Given the description of an element on the screen output the (x, y) to click on. 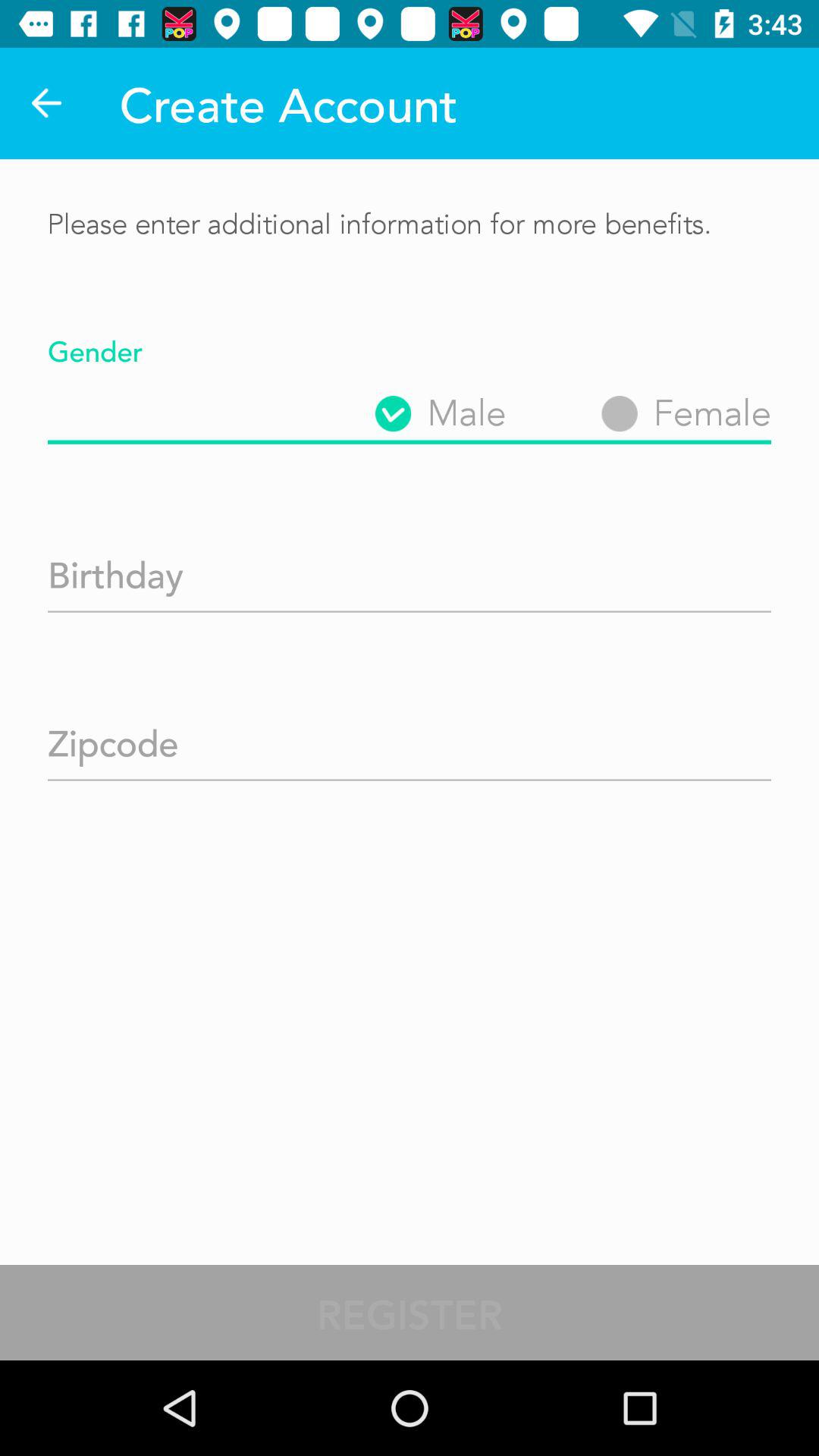
type in birtday (409, 569)
